Given the description of an element on the screen output the (x, y) to click on. 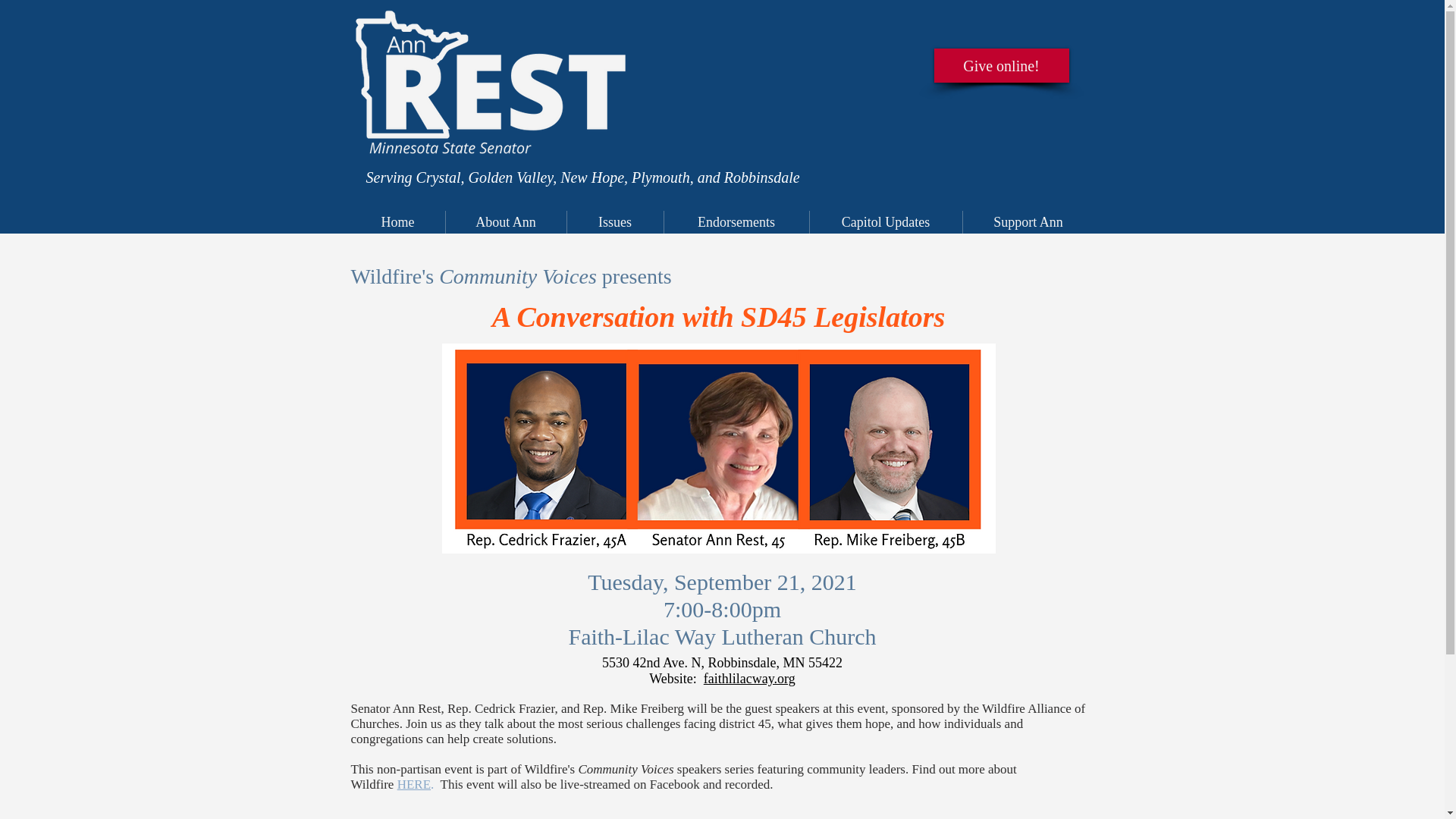
Home (397, 221)
Give online! (1001, 65)
Capitol Updates (884, 221)
HERE (413, 784)
Issues (614, 221)
faithlilacway.org (748, 678)
About Ann (505, 221)
RestCampaignLogo3.png (485, 97)
Endorsements (735, 221)
Support Ann (1026, 221)
